Given the description of an element on the screen output the (x, y) to click on. 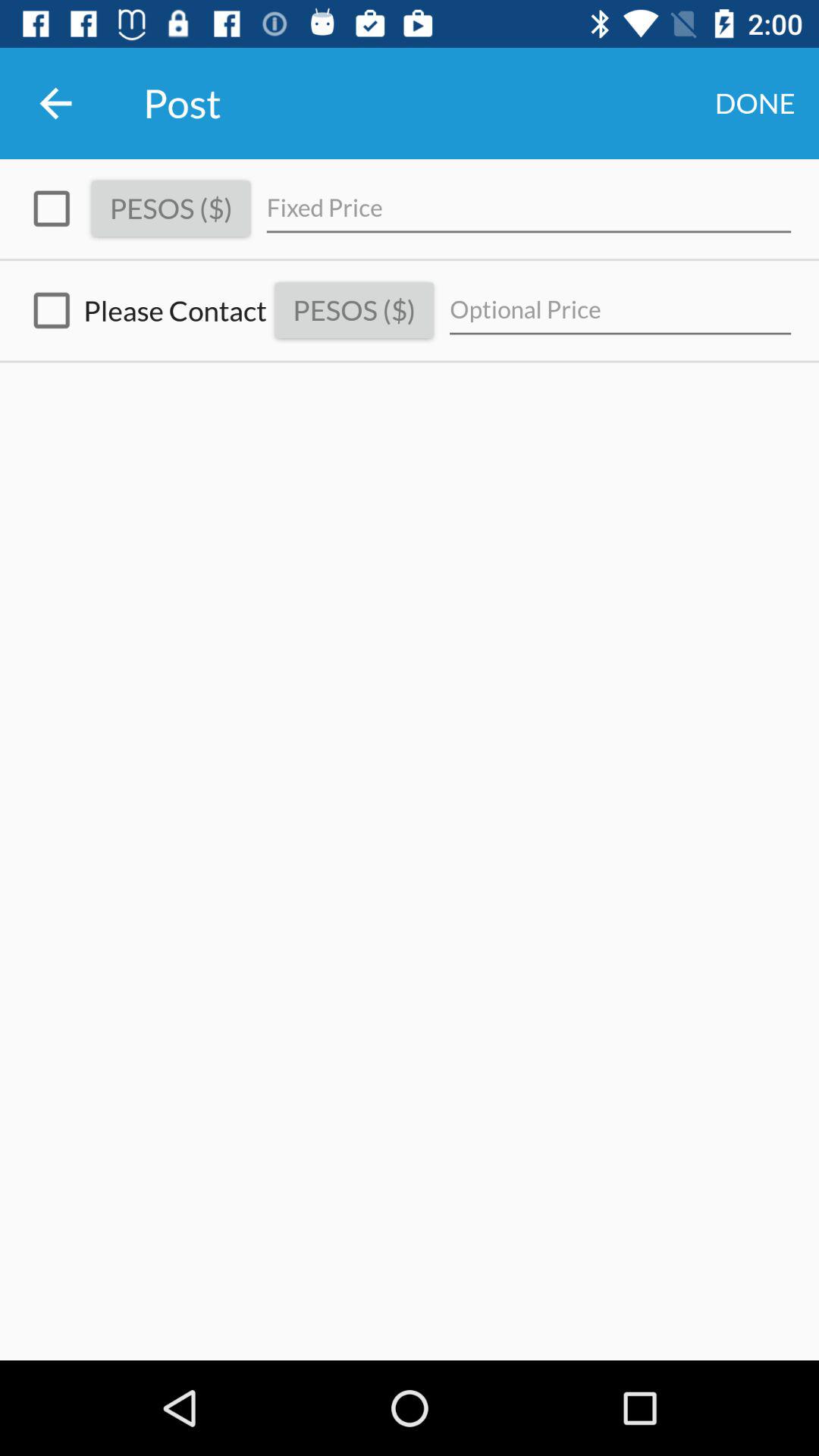
press the icon next to pesos ($) icon (620, 310)
